Given the description of an element on the screen output the (x, y) to click on. 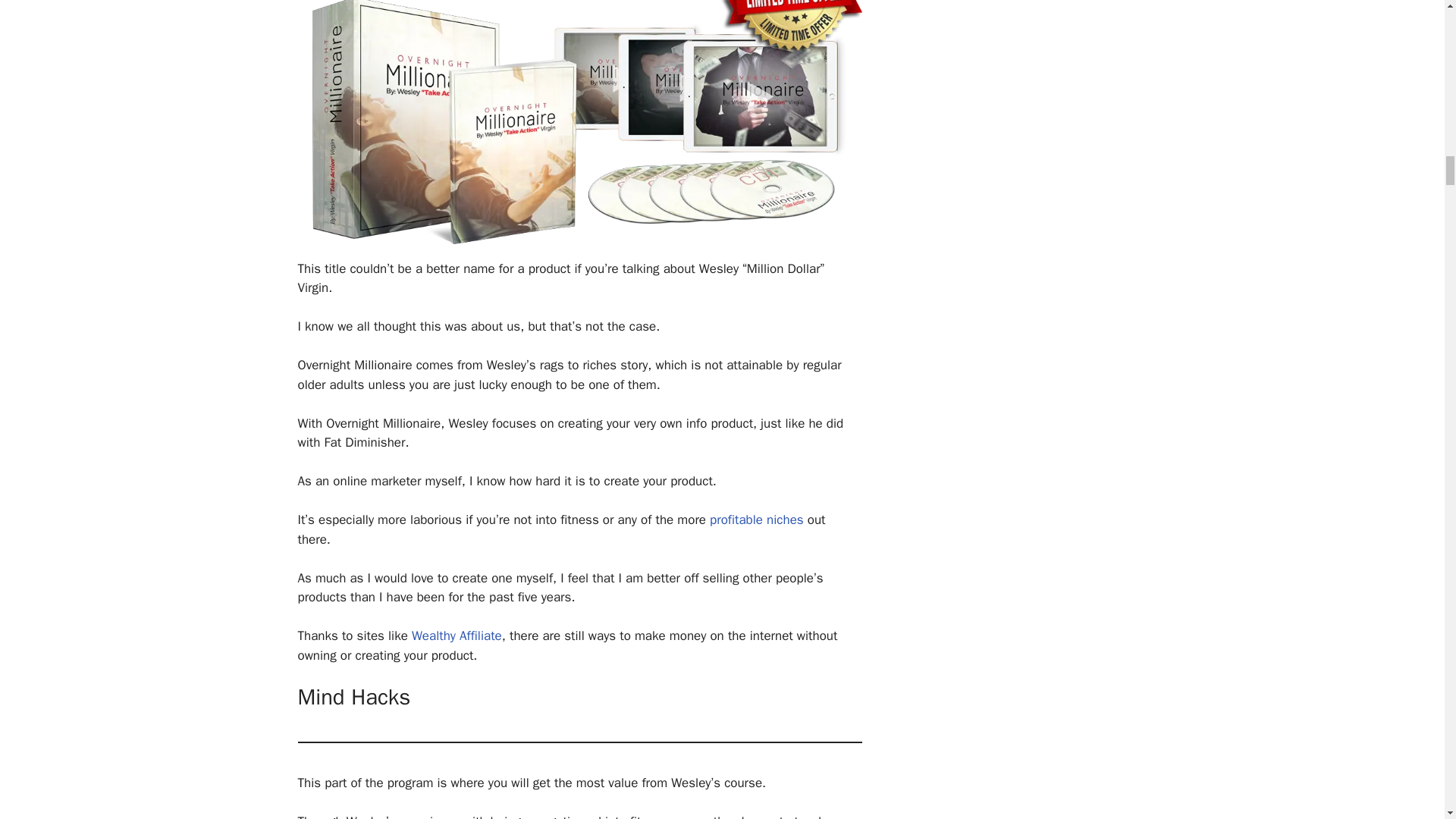
Wealthy Affiliate (457, 635)
profitable niches (756, 519)
